Given the description of an element on the screen output the (x, y) to click on. 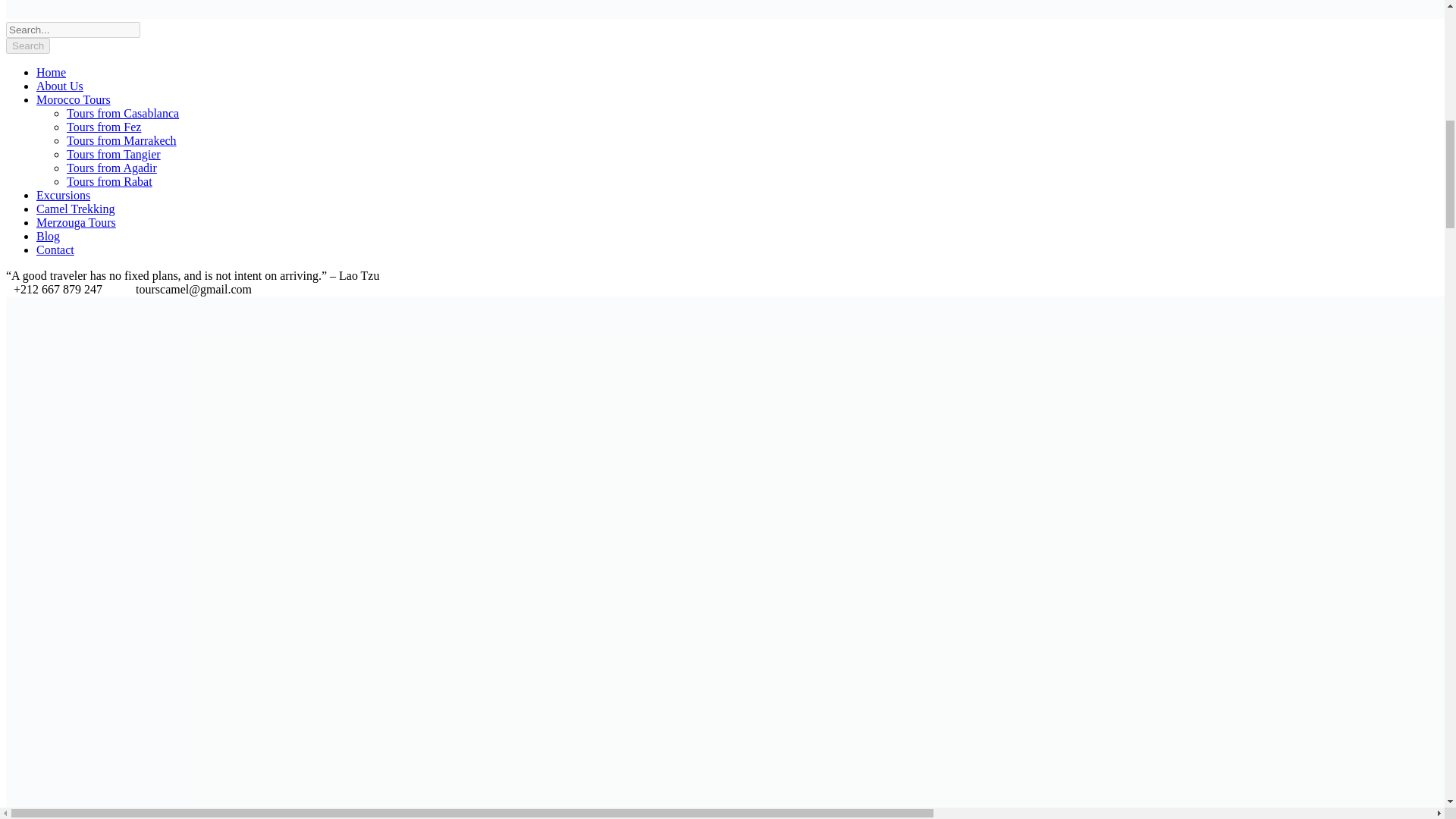
Tours from Casablanca (122, 113)
About Us (59, 85)
Blog (47, 236)
Contact (55, 249)
Tours from Agadir (111, 167)
Tours from Tangier (113, 154)
Tours from Fez (103, 126)
Tours from Marrakech (121, 140)
Excursions (63, 195)
Morocco Tours (73, 99)
